Given the description of an element on the screen output the (x, y) to click on. 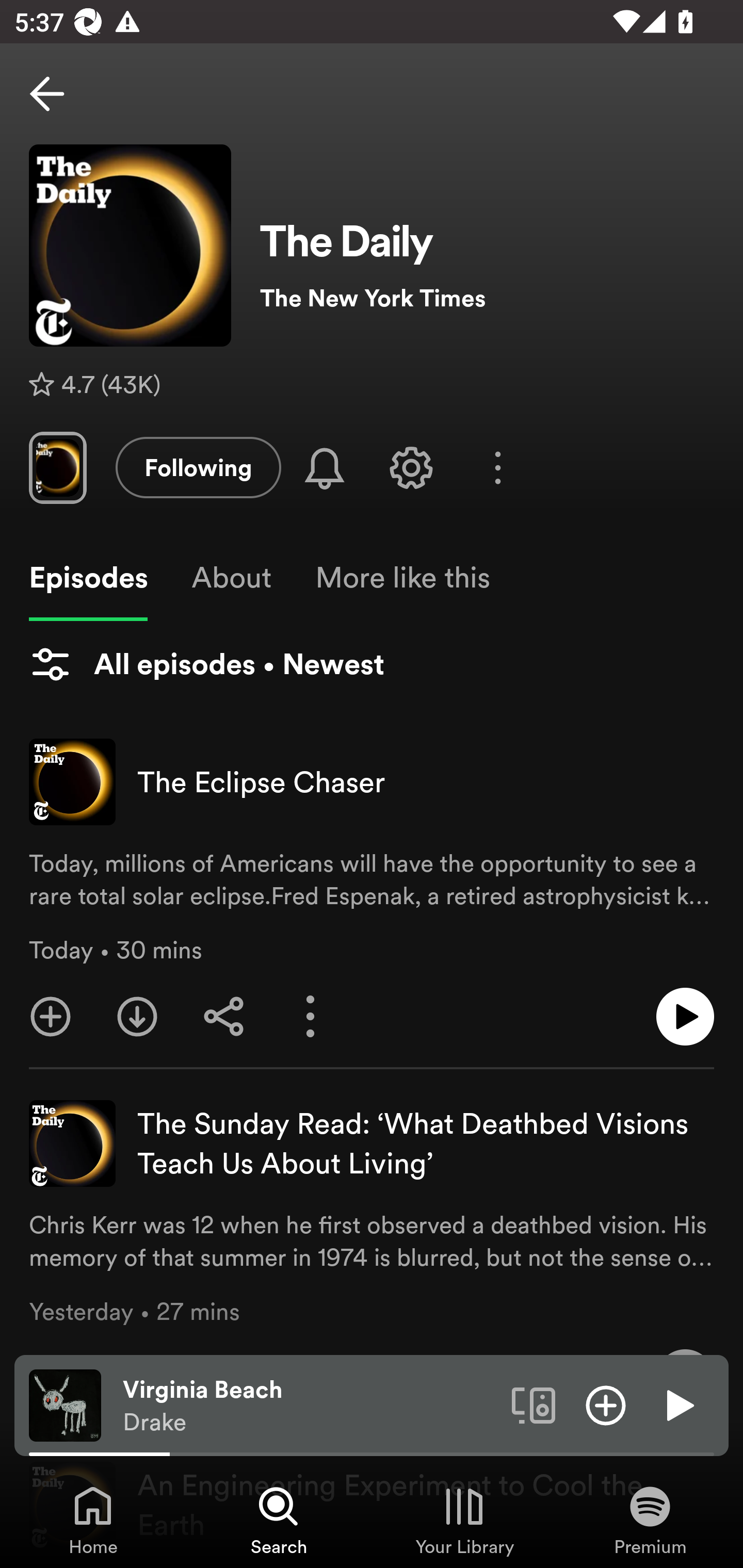
Back (46, 93)
The New York Times (487, 297)
Following Unfollow this show (197, 466)
Settings for this Show. (410, 467)
More options for show The Daily (497, 467)
About (231, 577)
More like this (402, 577)
All episodes • Newest (206, 663)
Add The Eclipse Chaser to Your Episodes (50, 1016)
Download episode: The Eclipse Chaser (136, 1016)
Share (223, 1016)
More options for episode The Eclipse Chaser (310, 1016)
Play episode: The Eclipse Chaser (684, 1016)
Virginia Beach Drake (309, 1405)
The cover art of the currently playing track (64, 1404)
Connect to a device. Opens the devices menu (533, 1404)
Add item (605, 1404)
Play (677, 1404)
Home, Tab 1 of 4 Home Home (92, 1519)
Search, Tab 2 of 4 Search Search (278, 1519)
Your Library, Tab 3 of 4 Your Library Your Library (464, 1519)
Premium, Tab 4 of 4 Premium Premium (650, 1519)
